Given the description of an element on the screen output the (x, y) to click on. 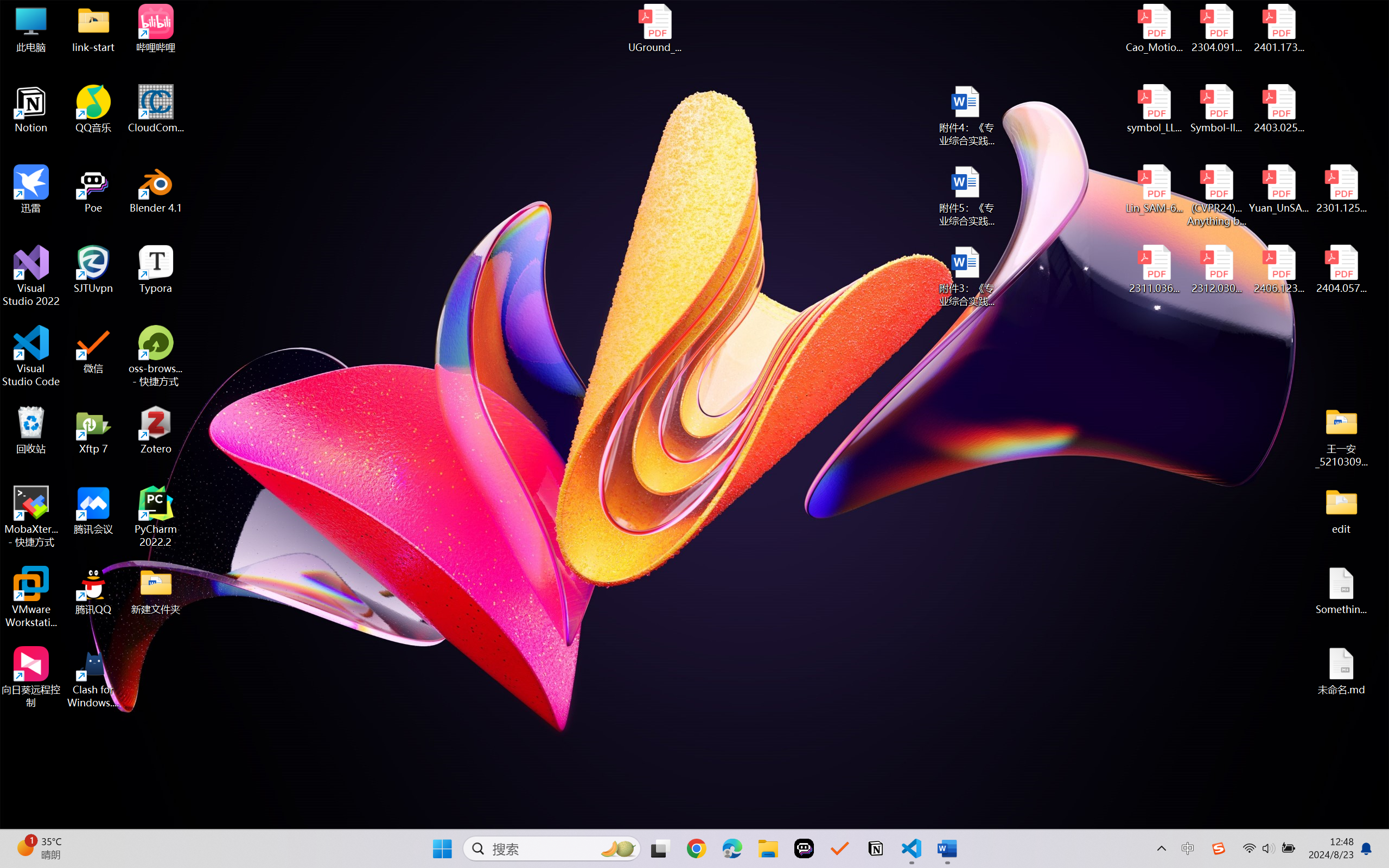
2406.12373v2.pdf (1278, 269)
symbol_LLM.pdf (1154, 109)
